Given the description of an element on the screen output the (x, y) to click on. 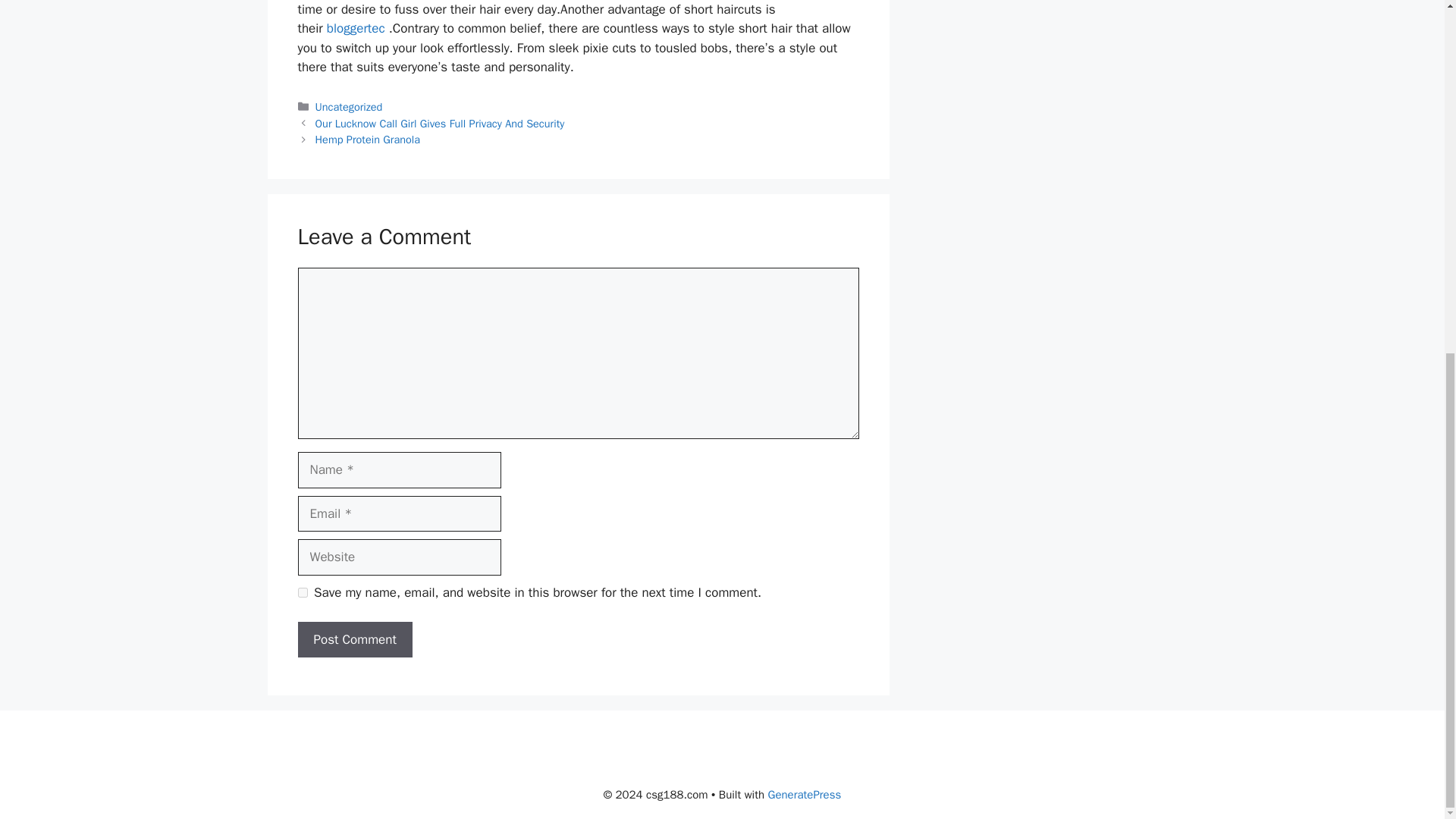
Our Lucknow Call Girl Gives Full Privacy And Security (439, 123)
bloggertec (355, 28)
Post Comment (354, 639)
Hemp Protein Granola (367, 139)
Post Comment (354, 639)
Uncategorized (348, 106)
GeneratePress (804, 794)
yes (302, 592)
